Given the description of an element on the screen output the (x, y) to click on. 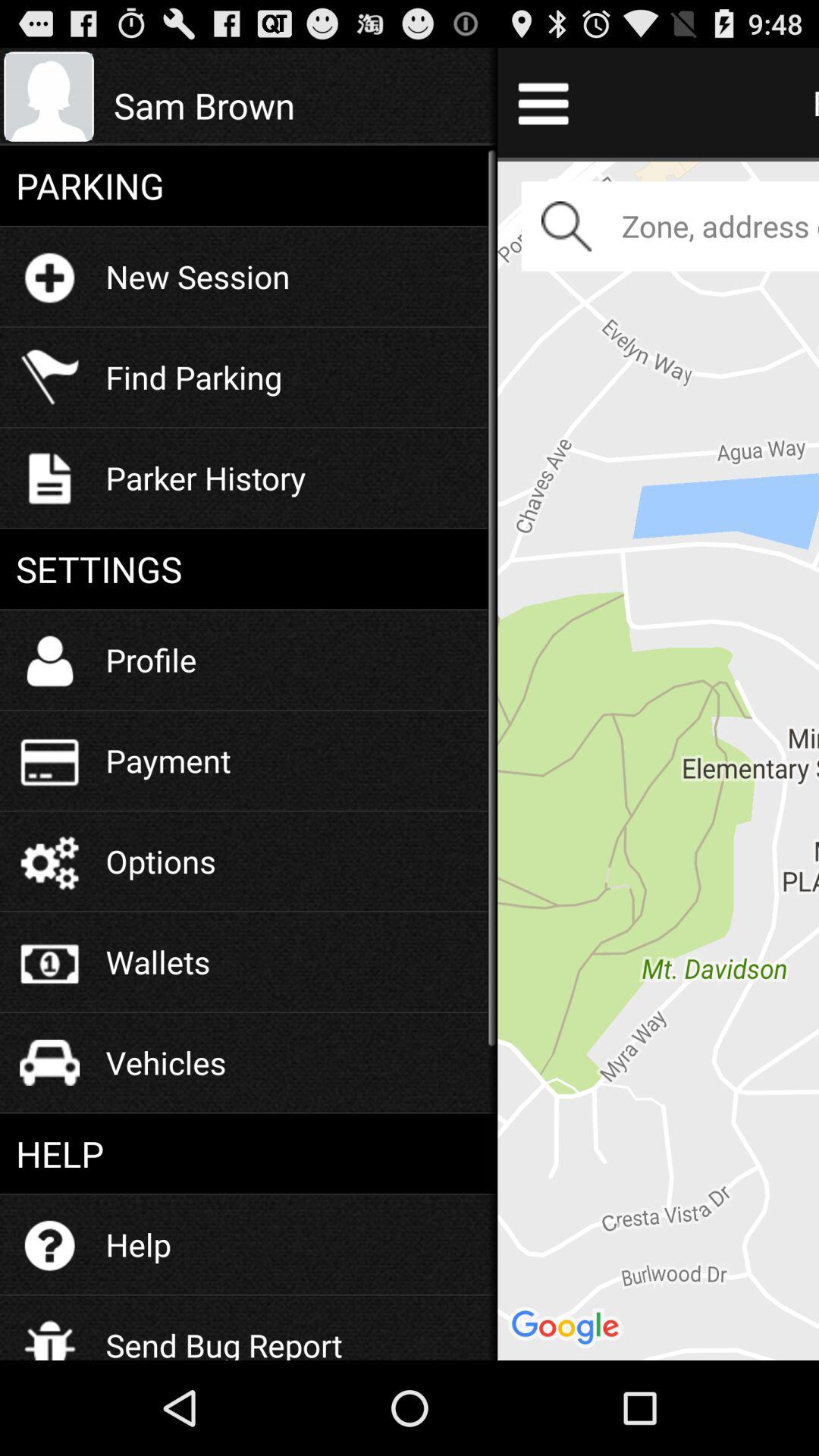
click on the icon which is left to the text options (49, 861)
select the icon which is left to the text sam brown (48, 96)
click on the icon which is just left to the vehicles (49, 1062)
click on wallets icon (49, 961)
click on the zoneaddress (670, 225)
click on menu bar icon (542, 102)
